Given the description of an element on the screen output the (x, y) to click on. 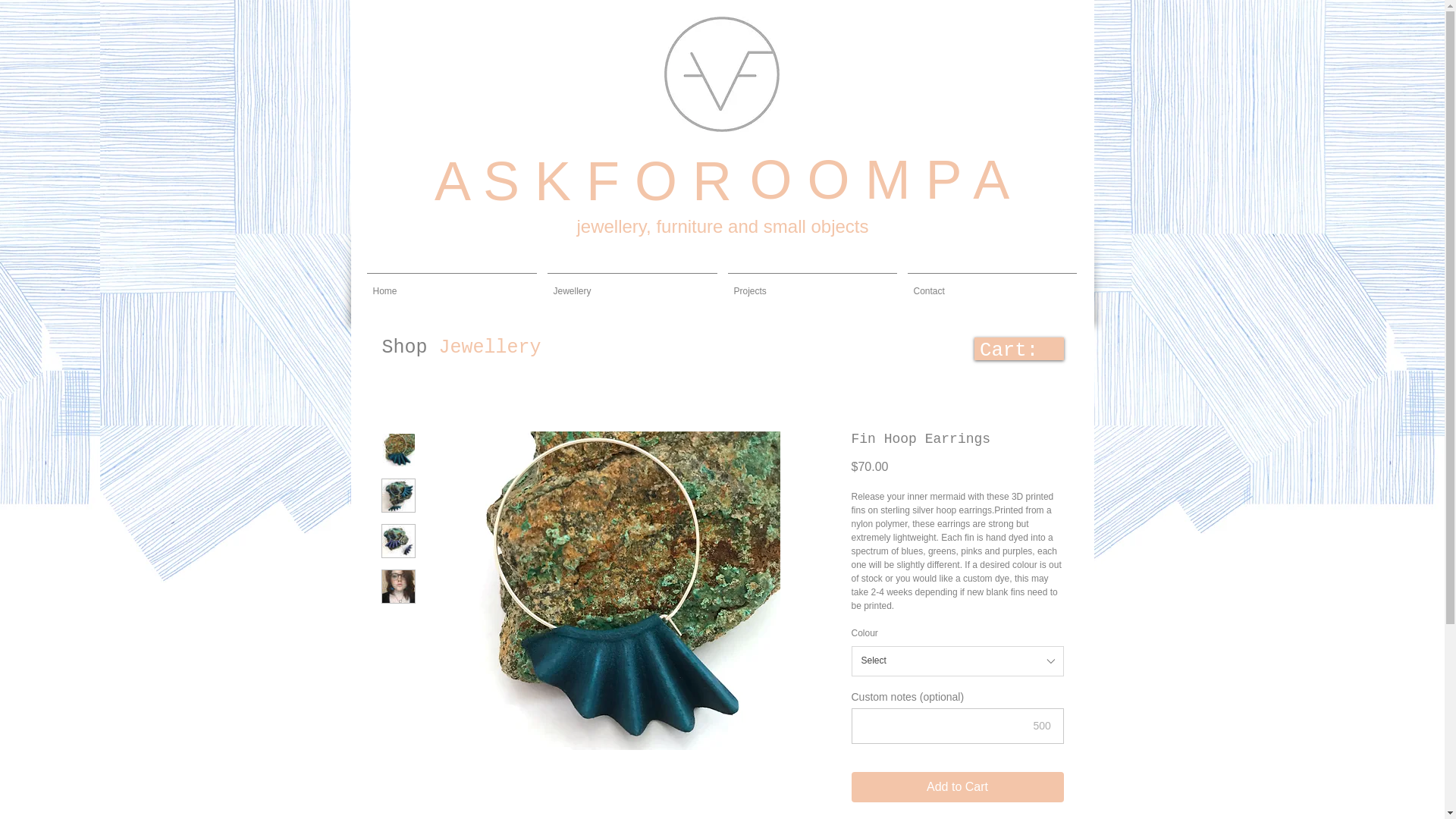
logoweb.jpg (720, 73)
Cart: (992, 348)
jewellery, furniture and small objects (721, 227)
Cart: (992, 348)
A S K F O R (582, 185)
Projects (811, 283)
Home (451, 283)
Jewellery (490, 347)
Jewellery (631, 283)
 O O M P A (872, 184)
